Given the description of an element on the screen output the (x, y) to click on. 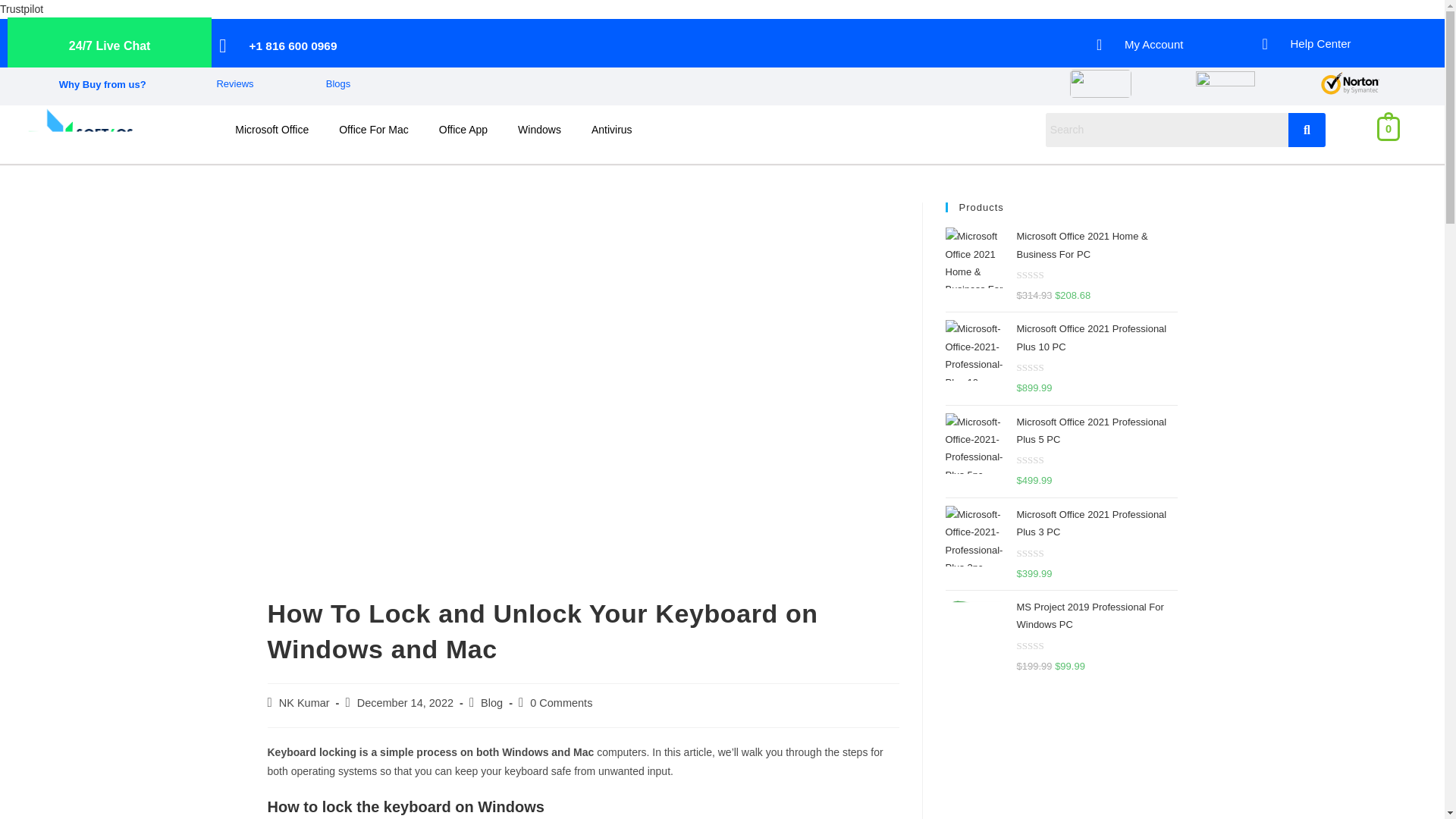
Search (1166, 130)
Microsoft Office (271, 129)
Posts by NK Kumar (304, 702)
Office For Mac (373, 129)
View your shopping cart (1388, 127)
Why Buy from us? (103, 84)
Trustpilot (21, 9)
Help Center (1339, 43)
My Account (1171, 44)
Office App (462, 129)
Blogs (338, 83)
